Given the description of an element on the screen output the (x, y) to click on. 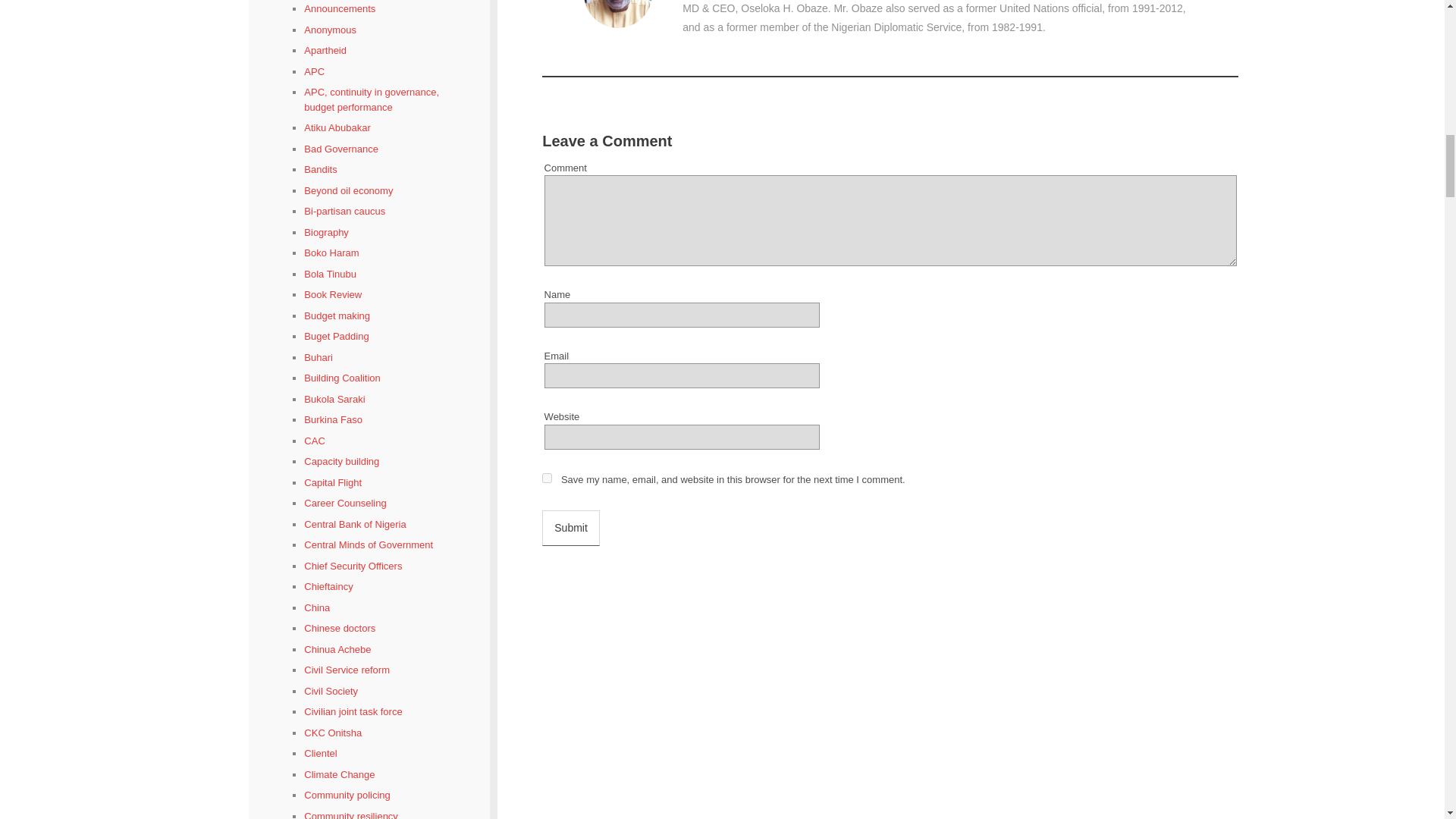
Submit (570, 528)
Submit (570, 528)
yes (546, 478)
